Given the description of an element on the screen output the (x, y) to click on. 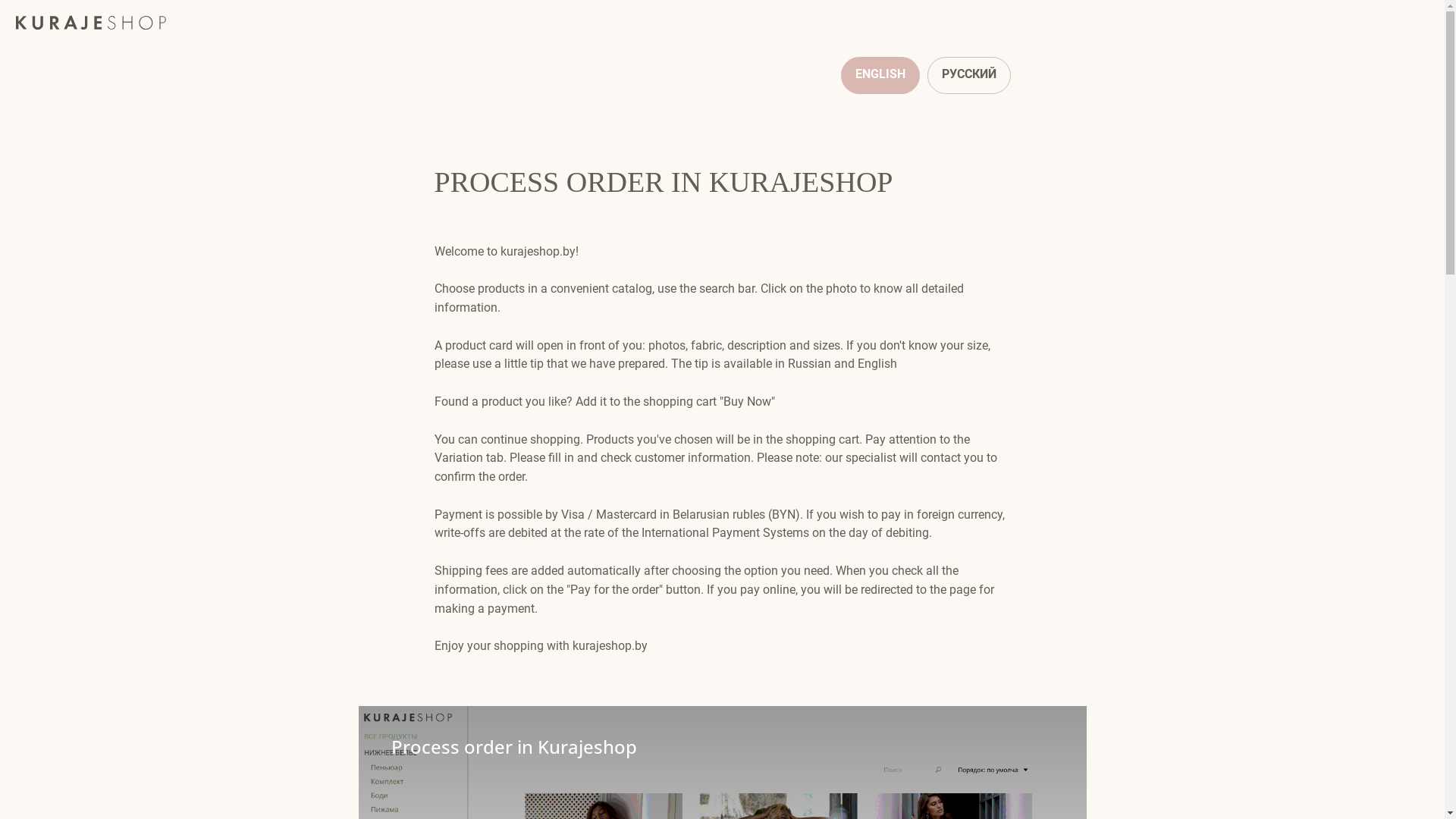
ENGLISH Element type: text (879, 75)
